Given the description of an element on the screen output the (x, y) to click on. 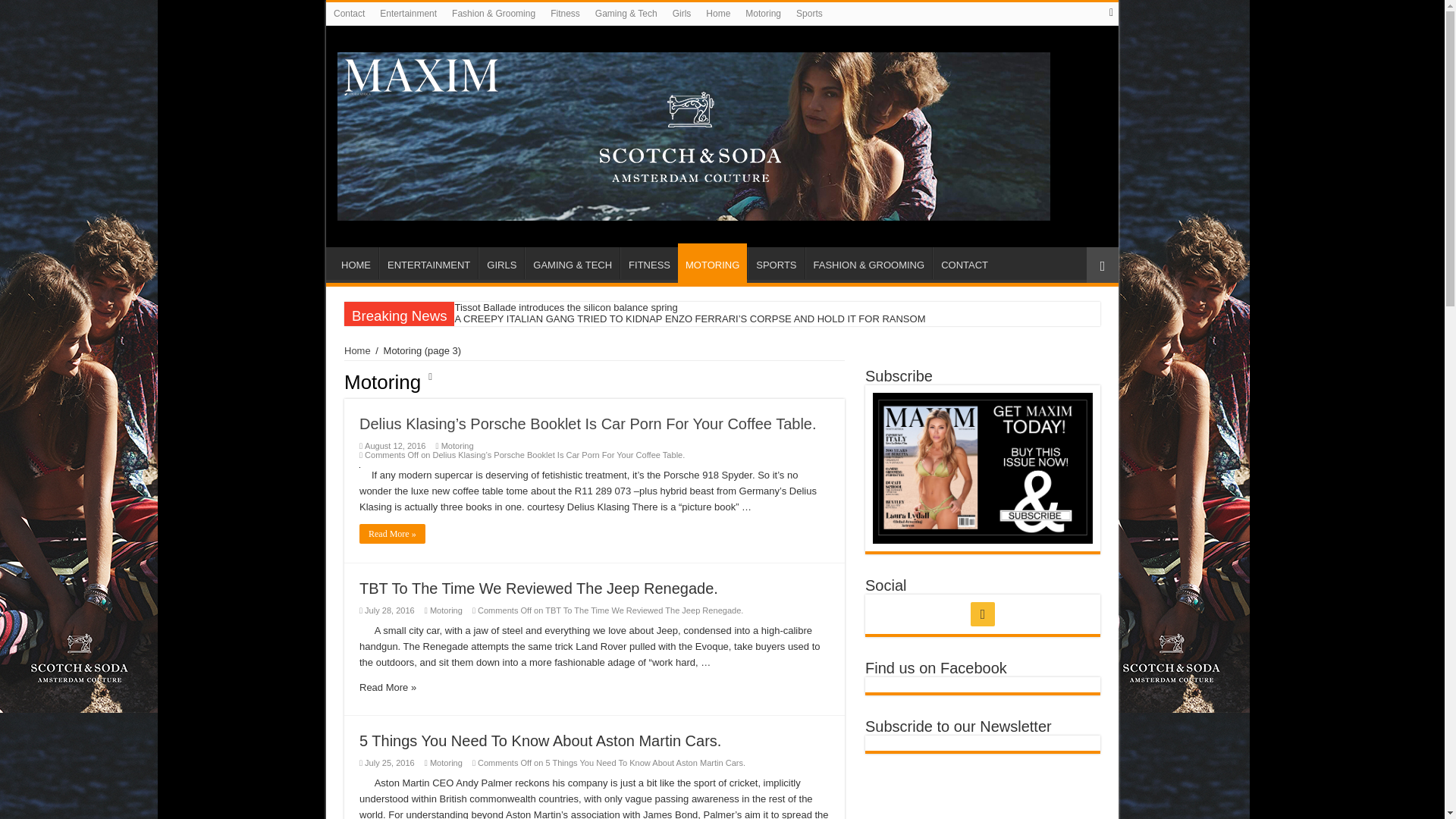
SPORTS (775, 263)
ENTERTAINMENT (427, 263)
Entertainment (408, 13)
HOME (355, 263)
Home (357, 350)
Girls (681, 13)
Random Article (1102, 264)
Fitness (565, 13)
CONTACT (964, 263)
Motoring (763, 13)
Home (718, 13)
Contact (349, 13)
FITNESS (649, 263)
Sports (809, 13)
Motoring (446, 610)
